Given the description of an element on the screen output the (x, y) to click on. 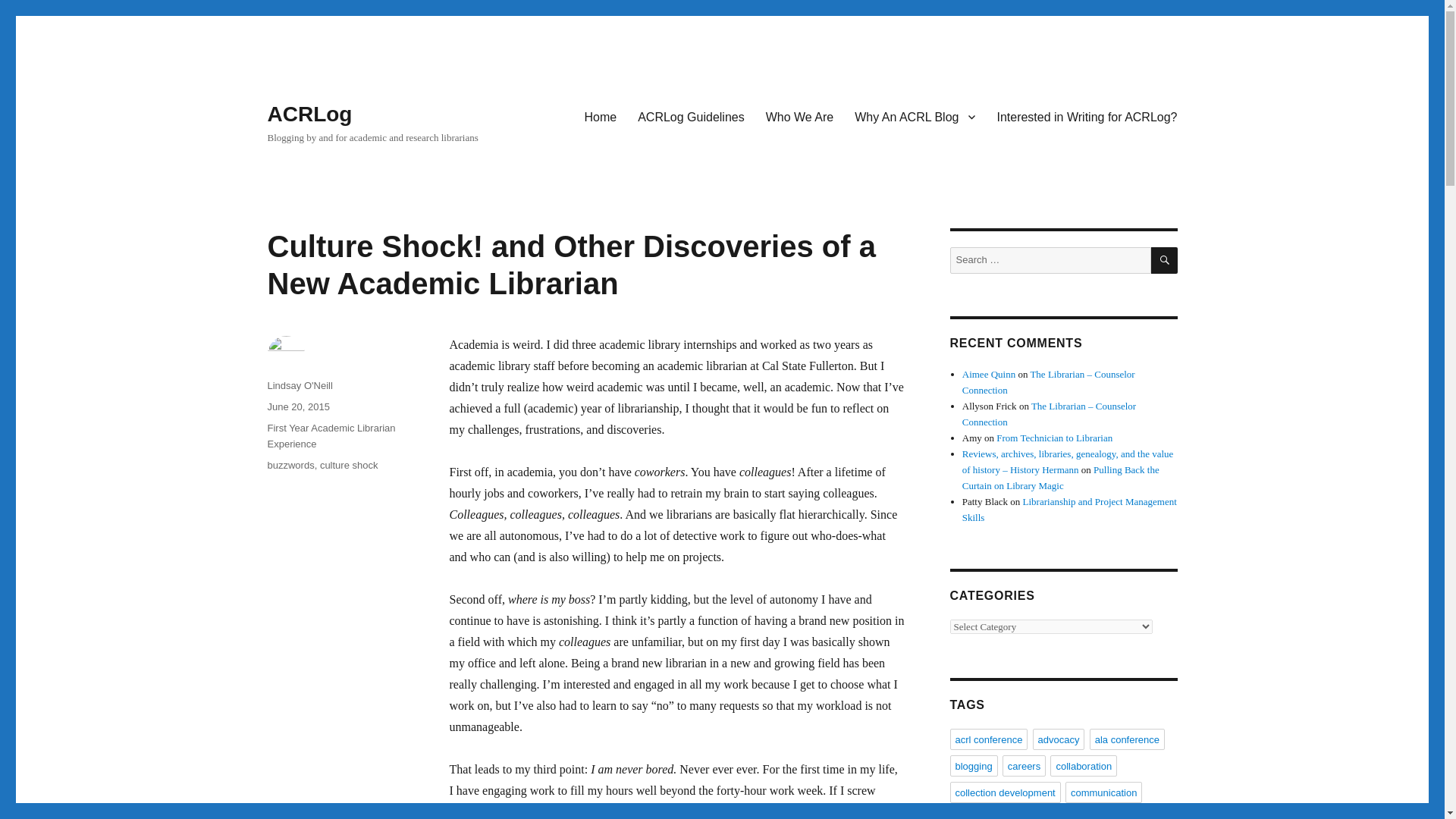
From Technician to Librarian (1053, 437)
First Year Academic Librarian Experience (330, 435)
Who We Are (799, 116)
Why An ACRL Blog (914, 116)
Home (600, 116)
culture shock (349, 464)
ACRLog Guidelines (691, 116)
buzzwords (290, 464)
SEARCH (1164, 260)
June 20, 2015 (297, 406)
ACRLog (309, 114)
Lindsay O'Neill (298, 385)
Aimee Quinn (988, 374)
Interested in Writing for ACRLog? (1086, 116)
